Given the description of an element on the screen output the (x, y) to click on. 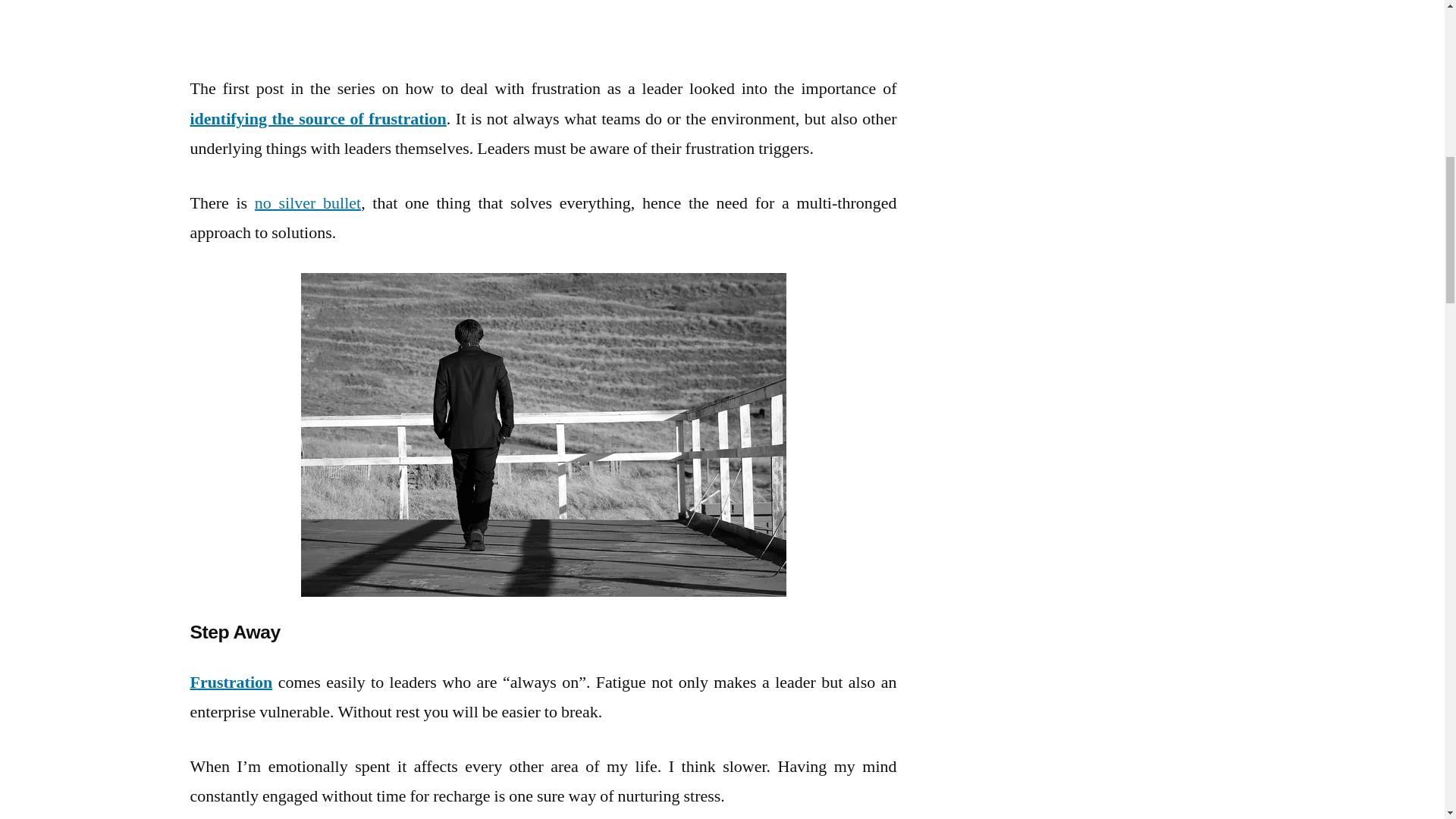
THE Silver Bullet (307, 202)
Frustration (230, 681)
no silver bullet (307, 202)
identifying the source of frustration (317, 118)
